Given the description of an element on the screen output the (x, y) to click on. 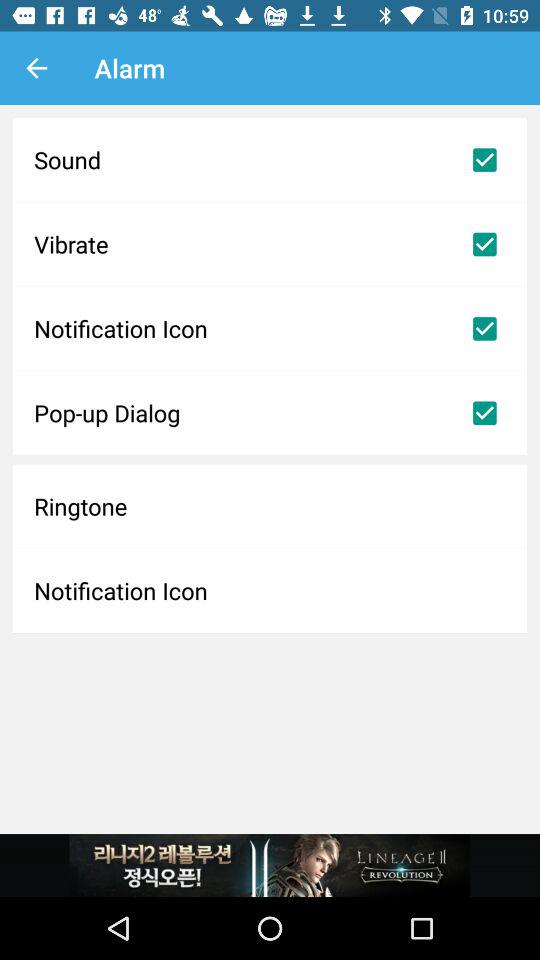
open the item next to the alarm item (36, 68)
